Given the description of an element on the screen output the (x, y) to click on. 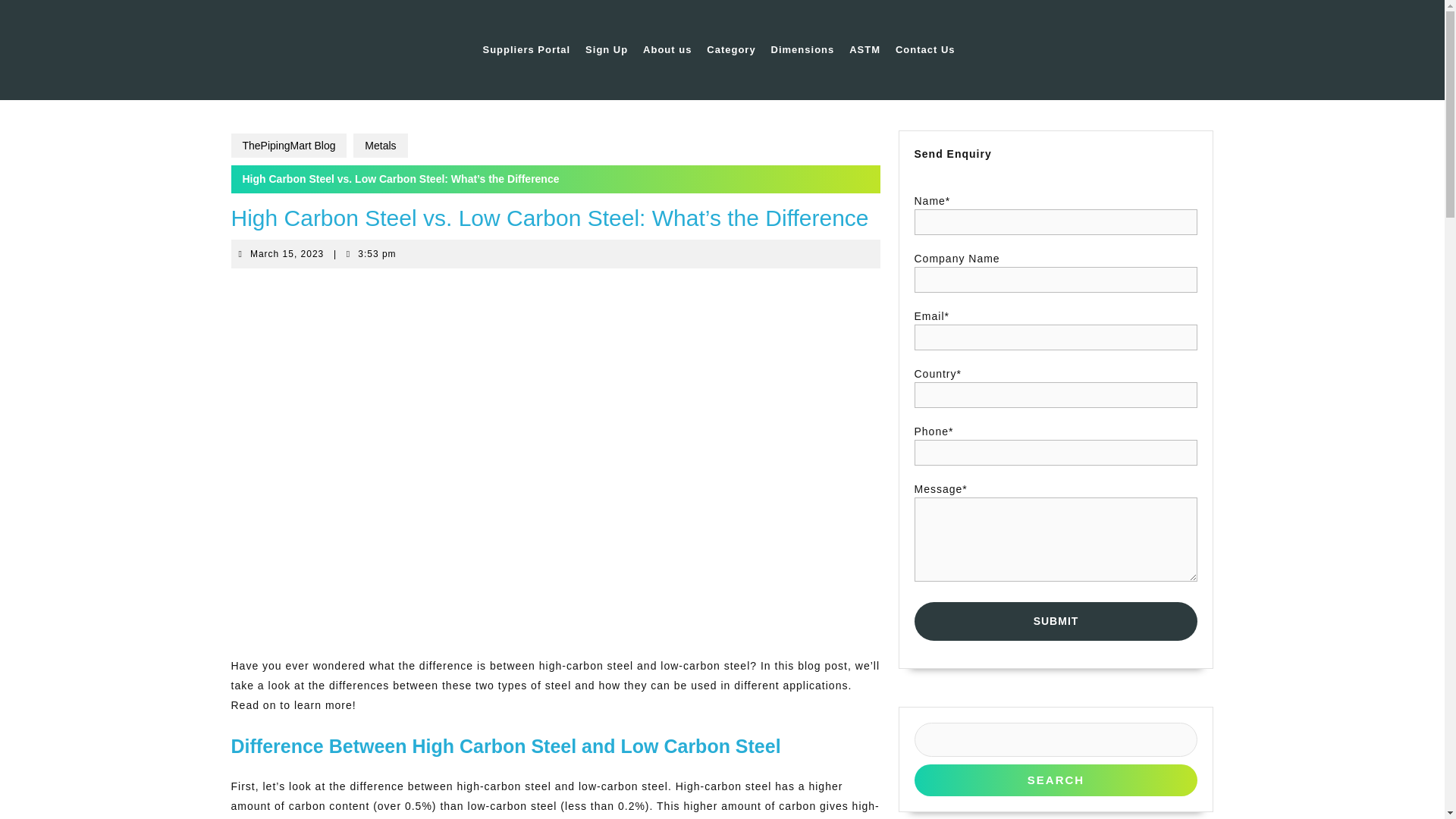
Category (730, 49)
Submit (1056, 620)
Submit (1056, 620)
Contact Us (924, 49)
ThePipingMart Blog (288, 145)
ASTM (864, 49)
SEARCH (286, 253)
Sign Up (1056, 780)
Suppliers Portal (606, 49)
